Given the description of an element on the screen output the (x, y) to click on. 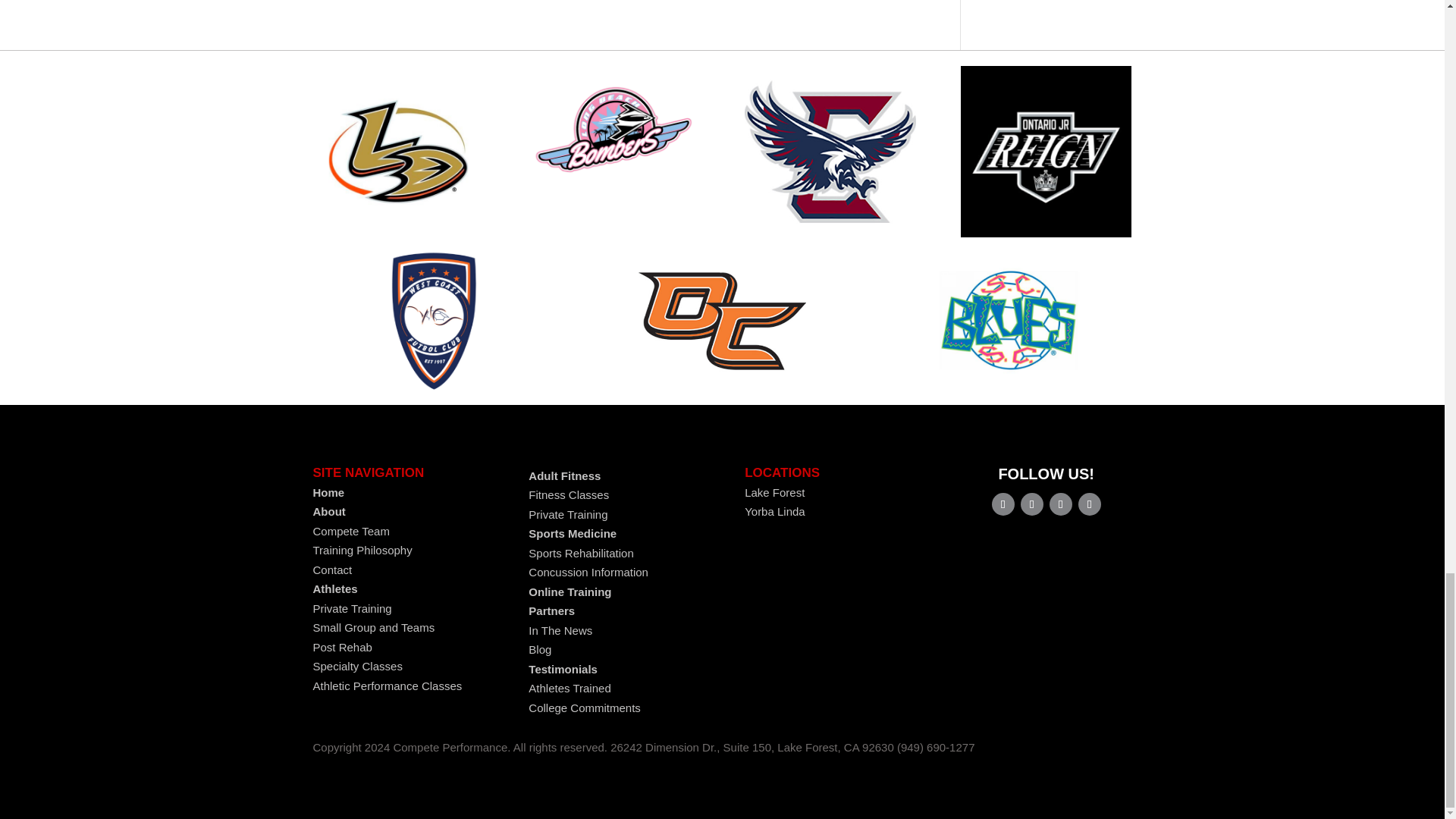
west-coast-fc-logo (434, 320)
Follow on Twitter (1031, 504)
Follow on Youtube (1060, 504)
sc-blues-logo (1010, 320)
ontario-jr-reign-logo (1045, 151)
Follow on Instagram (1089, 504)
cvcs400x400 (829, 151)
Follow on Facebook (1002, 504)
lady-ducks-logo (398, 151)
